Given the description of an element on the screen output the (x, y) to click on. 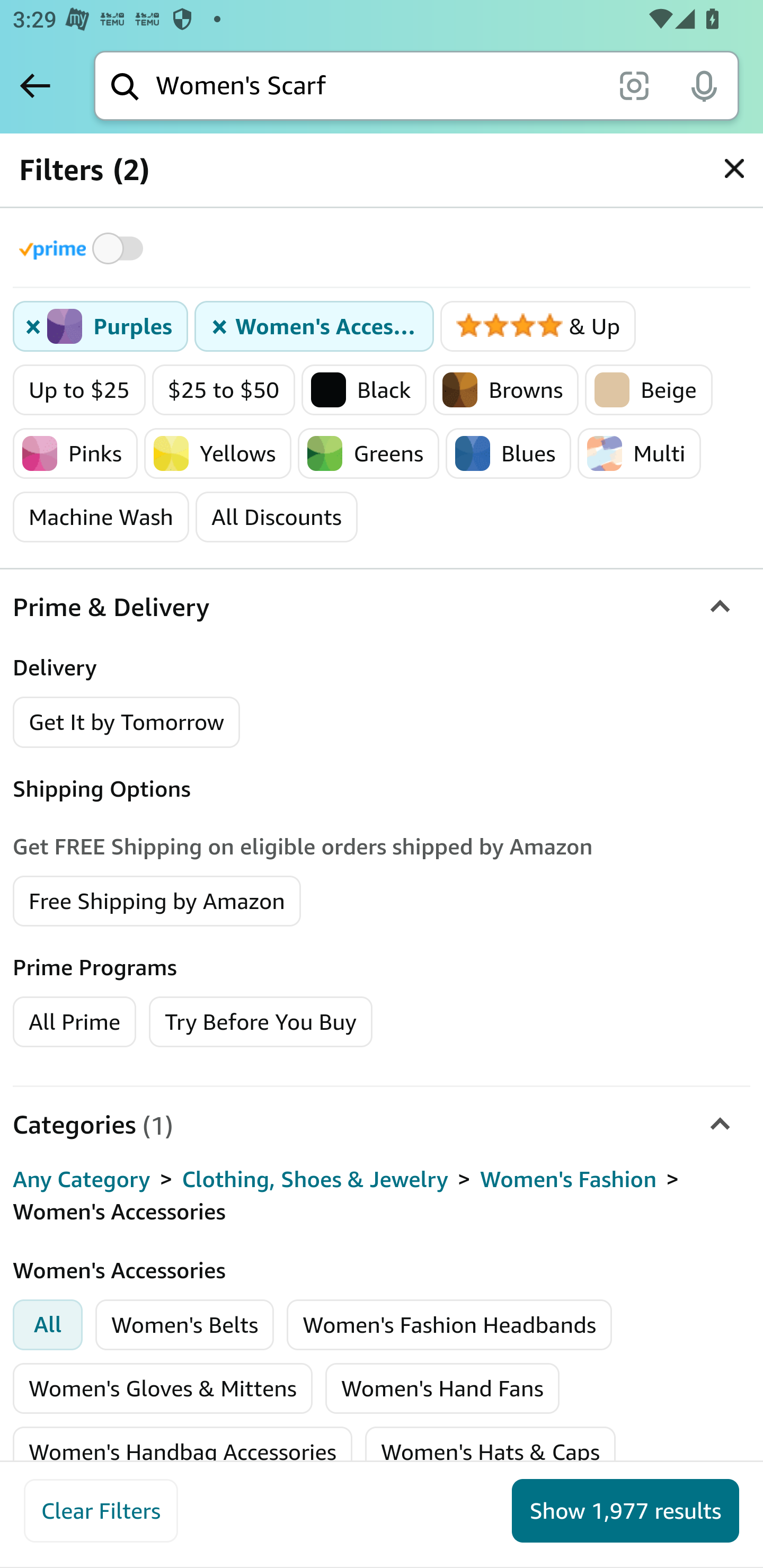
Back (35, 85)
scan it (633, 85)
Toggle to filter by Prime products Prime Eligible (83, 247)
× Purples Purples × Purples Purples (100, 326)
× Women's Accessories × Women's Accessories (314, 326)
4 Stars & Up (538, 326)
Up to $25 (79, 390)
$25 to $50 (223, 390)
Black Black Black Black (363, 390)
Browns Browns Browns Browns (505, 390)
Beige Beige Beige Beige (649, 390)
Pinks Pinks Pinks Pinks (75, 453)
Yellows Yellows Yellows Yellows (217, 453)
Greens Greens Greens Greens (368, 453)
Blues Blues Blues Blues (508, 453)
Multi Multi Multi Multi (639, 453)
Machine Wash (101, 517)
All Discounts (276, 517)
Prime & Delivery (381, 607)
Get It by Tomorrow (126, 721)
Free Shipping by Amazon (157, 899)
All Prime (74, 1020)
Try Before You Buy (260, 1020)
Categories (1) (381, 1124)
Any Category (81, 1179)
Clothing, Shoes & Jewelry (314, 1179)
Women's Fashion (567, 1179)
Women's Belts (184, 1324)
Women's Fashion Headbands (449, 1324)
Women's Gloves & Mittens (162, 1388)
Women's Hand Fans (441, 1388)
Women's Handbag Accessories (182, 1451)
Women's Hats & Caps (489, 1451)
Clear Filters (100, 1510)
Show 1,977 results (625, 1510)
